Given the description of an element on the screen output the (x, y) to click on. 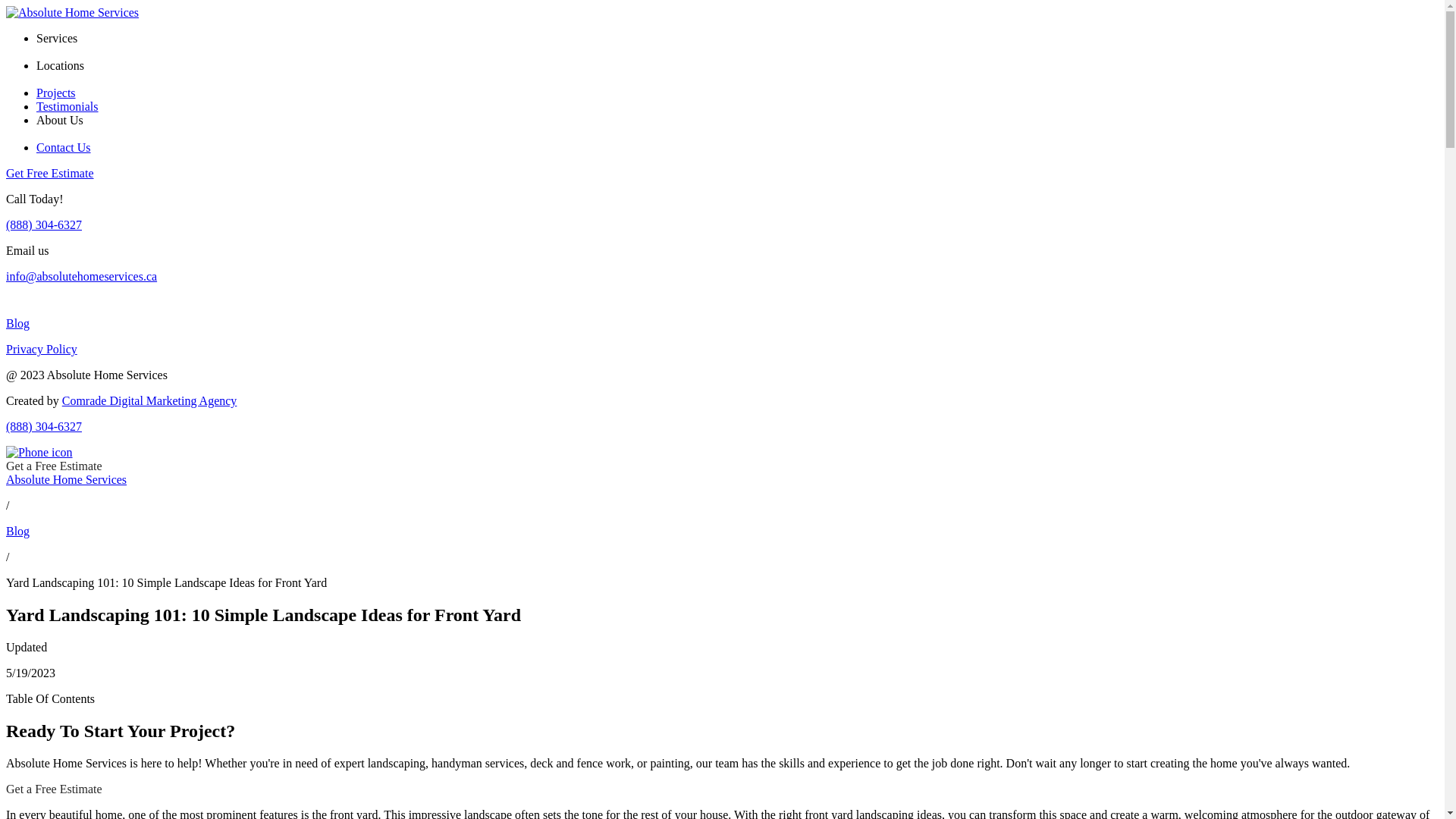
Contact Us Element type: text (63, 147)
Testimonials Element type: text (67, 106)
(888) 304-6327 Element type: text (722, 446)
Blog Element type: text (722, 323)
Comrade Digital Marketing Agency Element type: text (149, 400)
Get a Free Estimate Element type: text (54, 788)
Get a Free Estimate Element type: text (54, 465)
Projects Element type: text (55, 92)
Absolute Home Services Element type: text (66, 479)
info@absolutehomeservices.ca Element type: text (81, 275)
(888) 304-6327 Element type: text (43, 224)
Get Free Estimate Element type: text (50, 172)
Blog Element type: text (17, 530)
Privacy Policy Element type: text (722, 349)
